Given the description of an element on the screen output the (x, y) to click on. 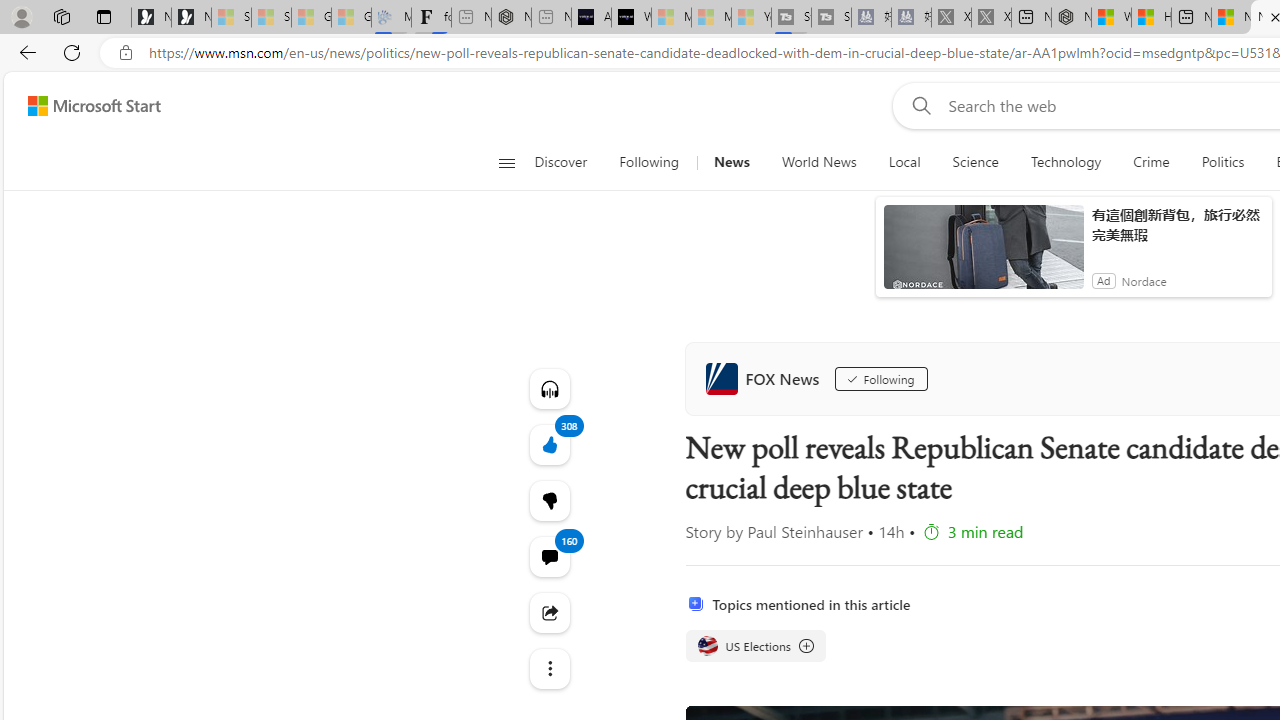
New tab - Sleeping (551, 17)
308 Like (548, 444)
Open navigation menu (506, 162)
See more (548, 668)
Newsletter Sign Up (191, 17)
World News (818, 162)
News (731, 162)
Politics (1222, 162)
